Given the description of an element on the screen output the (x, y) to click on. 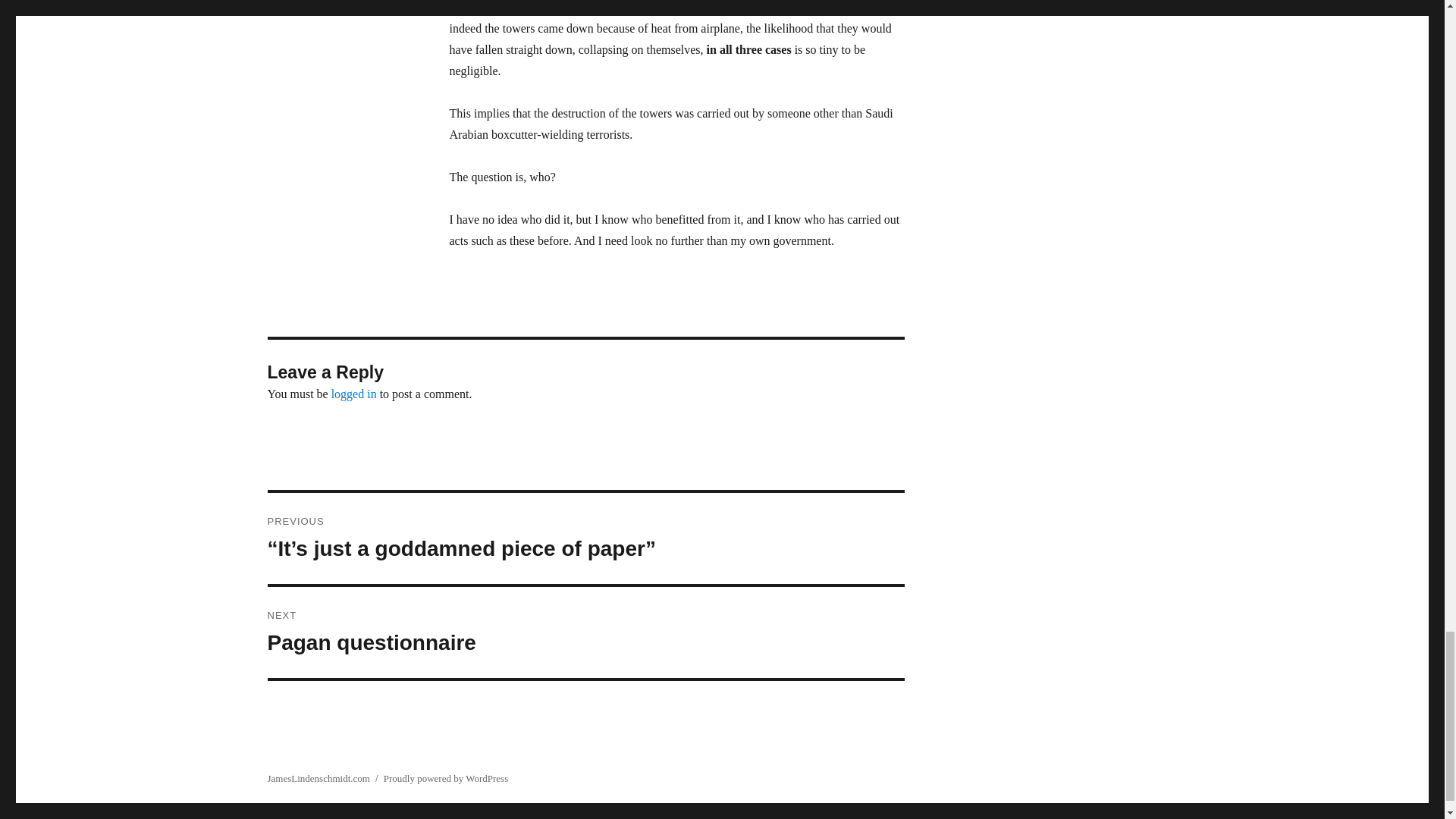
logged in (585, 632)
